Given the description of an element on the screen output the (x, y) to click on. 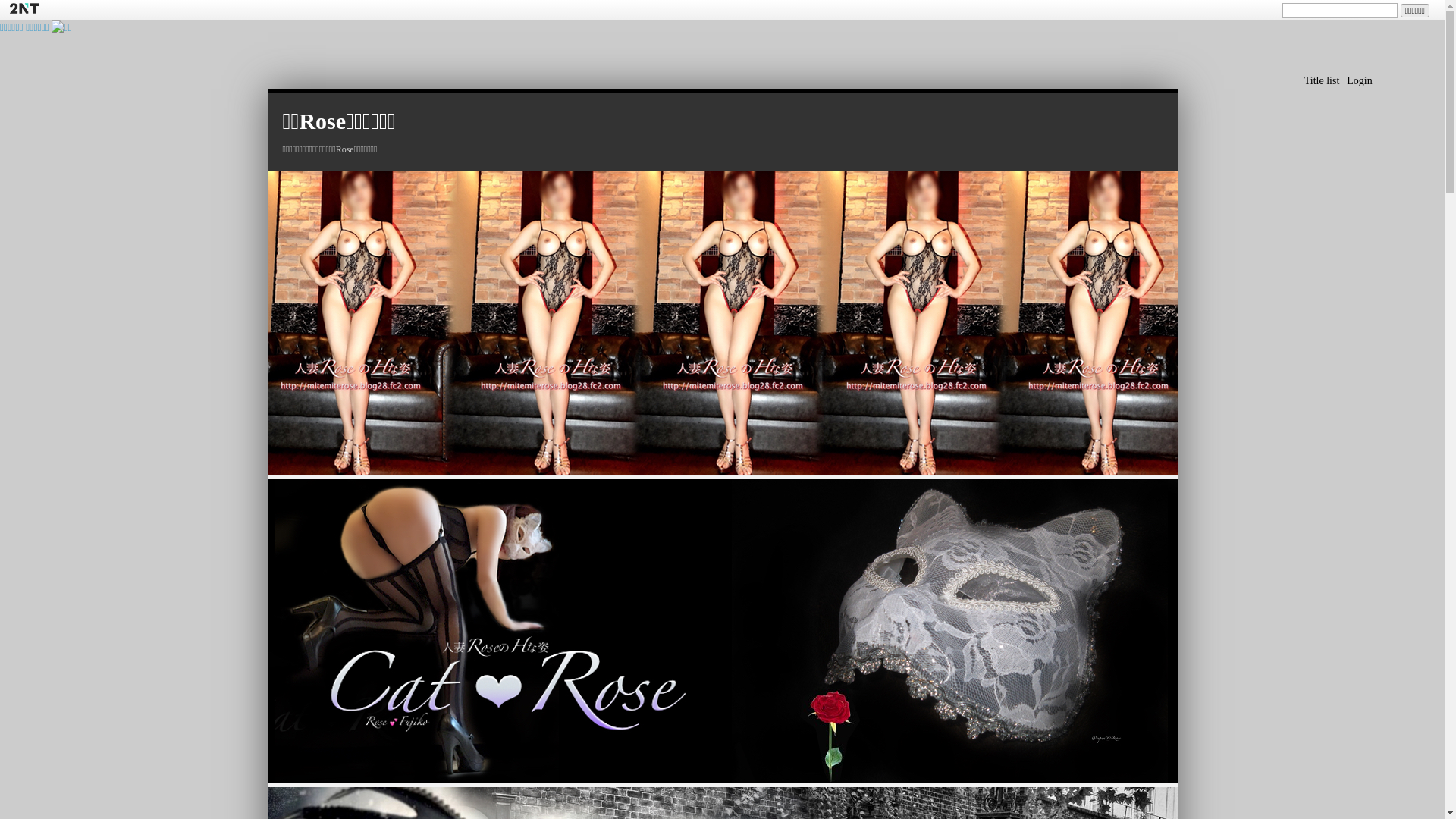
Login Element type: text (1358, 80)
Title list Element type: text (1321, 80)
bodyROSE Element type: hover (721, 322)
CatROSE Element type: hover (721, 630)
